Given the description of an element on the screen output the (x, y) to click on. 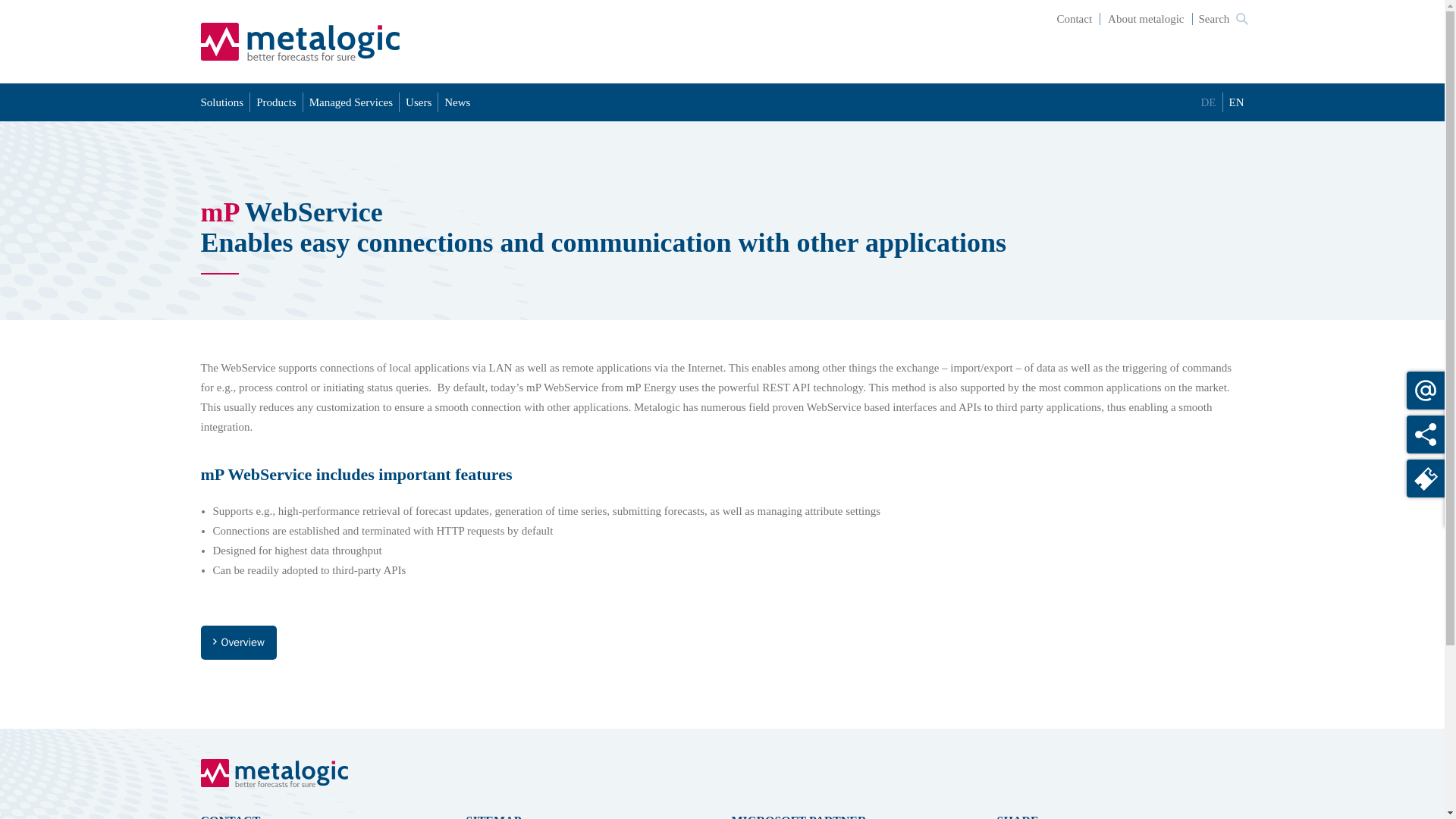
Managed Services (350, 102)
Overview (238, 642)
News (457, 102)
About metalogic (1146, 19)
DE (1209, 102)
metalogic GmbH - Better forecasts for the energy industry (299, 41)
Contact (1074, 19)
Overview (238, 642)
Products (276, 102)
About metalogic (1146, 19)
